Given the description of an element on the screen output the (x, y) to click on. 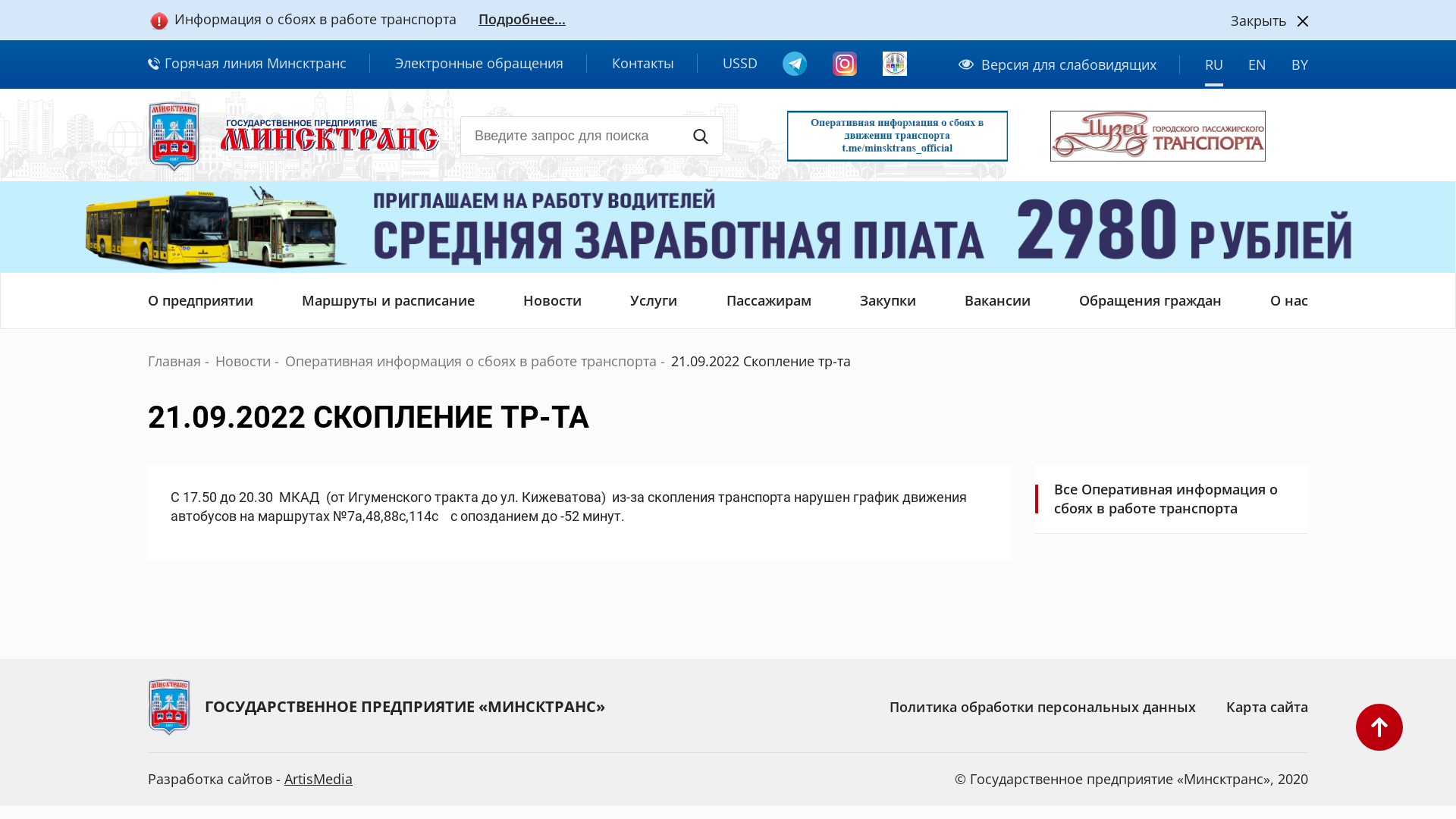
ArtisMedia Element type: text (318, 778)
RU Element type: text (1213, 69)
EN Element type: text (1257, 69)
BY Element type: text (1299, 69)
USSD Element type: text (739, 62)
